Given the description of an element on the screen output the (x, y) to click on. 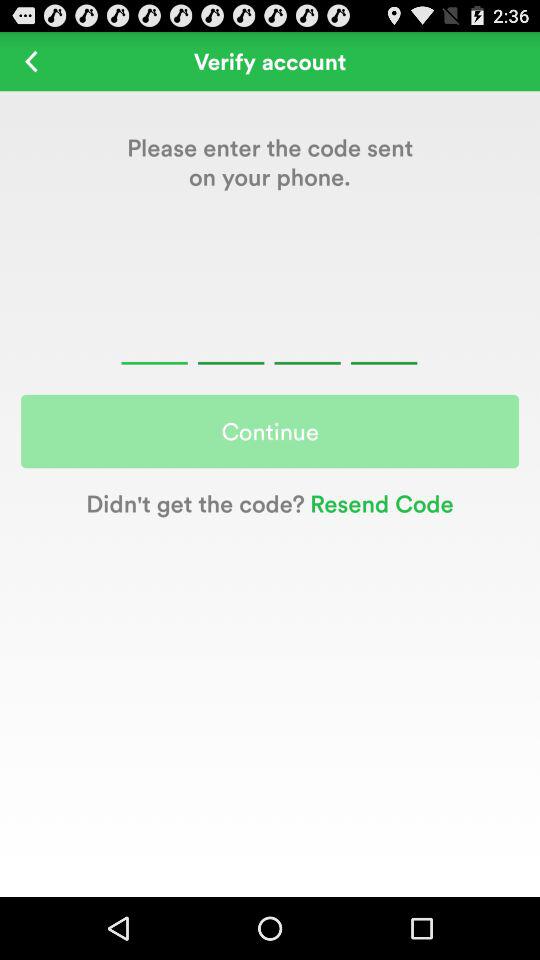
turn off icon next to the verify account icon (31, 60)
